Given the description of an element on the screen output the (x, y) to click on. 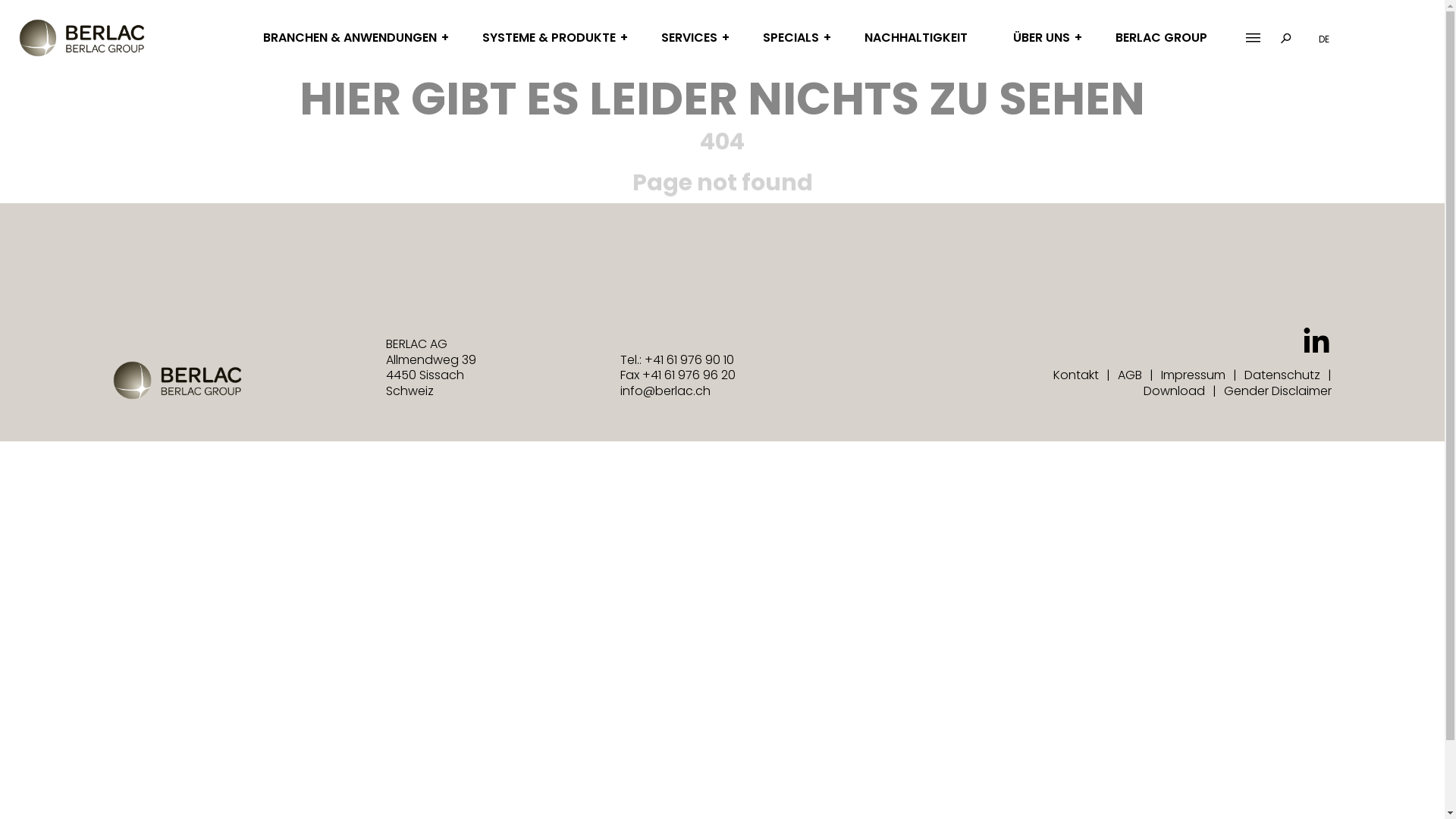
Impressum Element type: text (1193, 374)
Kontakt Element type: text (1075, 374)
AGB Element type: text (1129, 374)
BRANCHEN & ANWENDUNGEN Element type: text (349, 37)
BERLAC GROUP Element type: text (1161, 37)
SYSTEME & PRODUKTE Element type: text (548, 37)
Download Element type: text (1173, 390)
DE Element type: text (1323, 39)
SPECIALS Element type: text (790, 37)
Tel.: +41 61 976 90 10 Element type: text (677, 359)
NACHHALTIGKEIT Element type: text (916, 37)
SERVICES Element type: text (688, 37)
info@berlac.ch Element type: text (665, 390)
Datenschutz Element type: text (1282, 374)
Berlac AG Element type: text (81, 37)
Gender Disclaimer Element type: text (1277, 390)
